Given the description of an element on the screen output the (x, y) to click on. 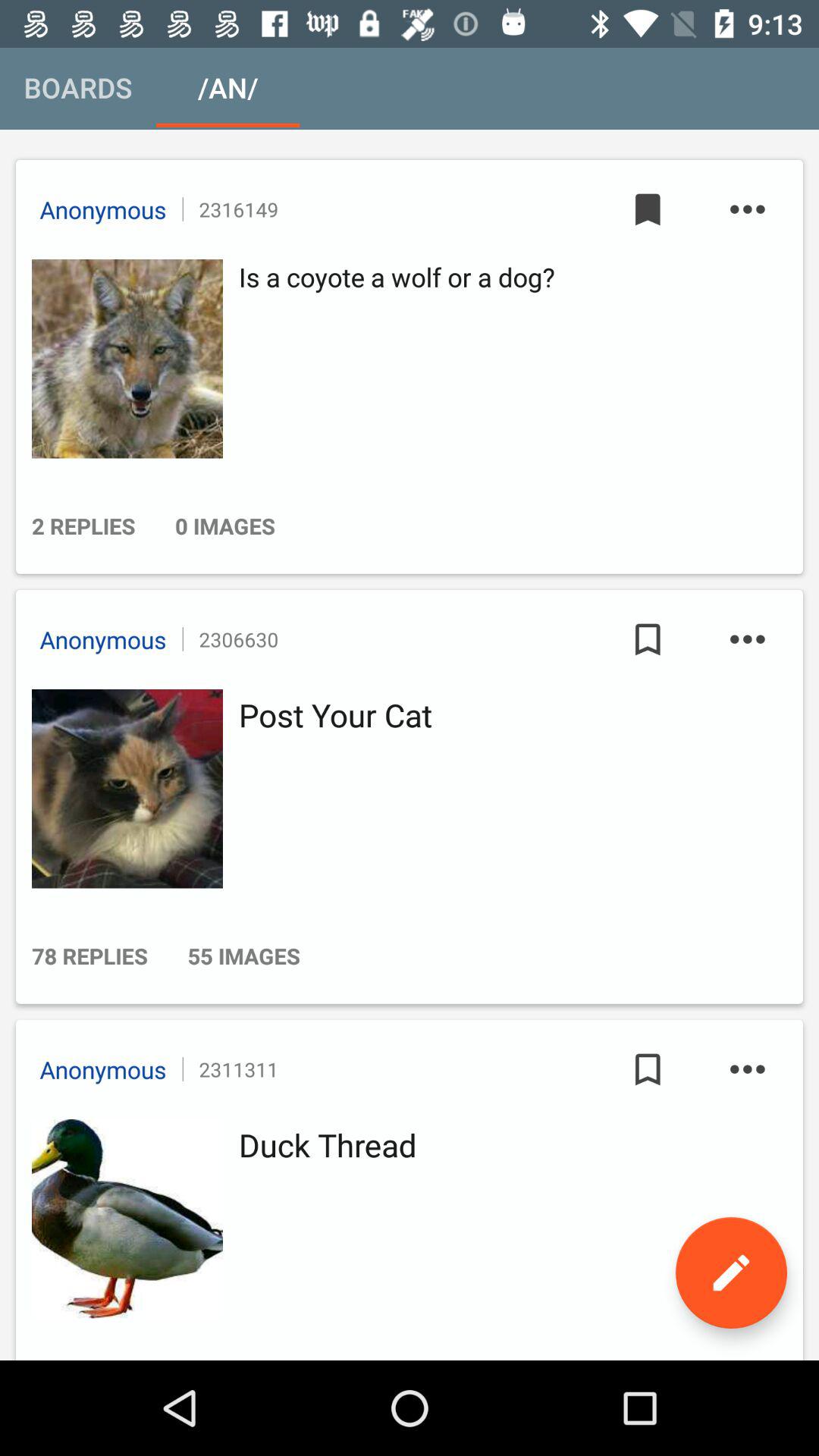
tap the item above the post your cat (647, 639)
